Given the description of an element on the screen output the (x, y) to click on. 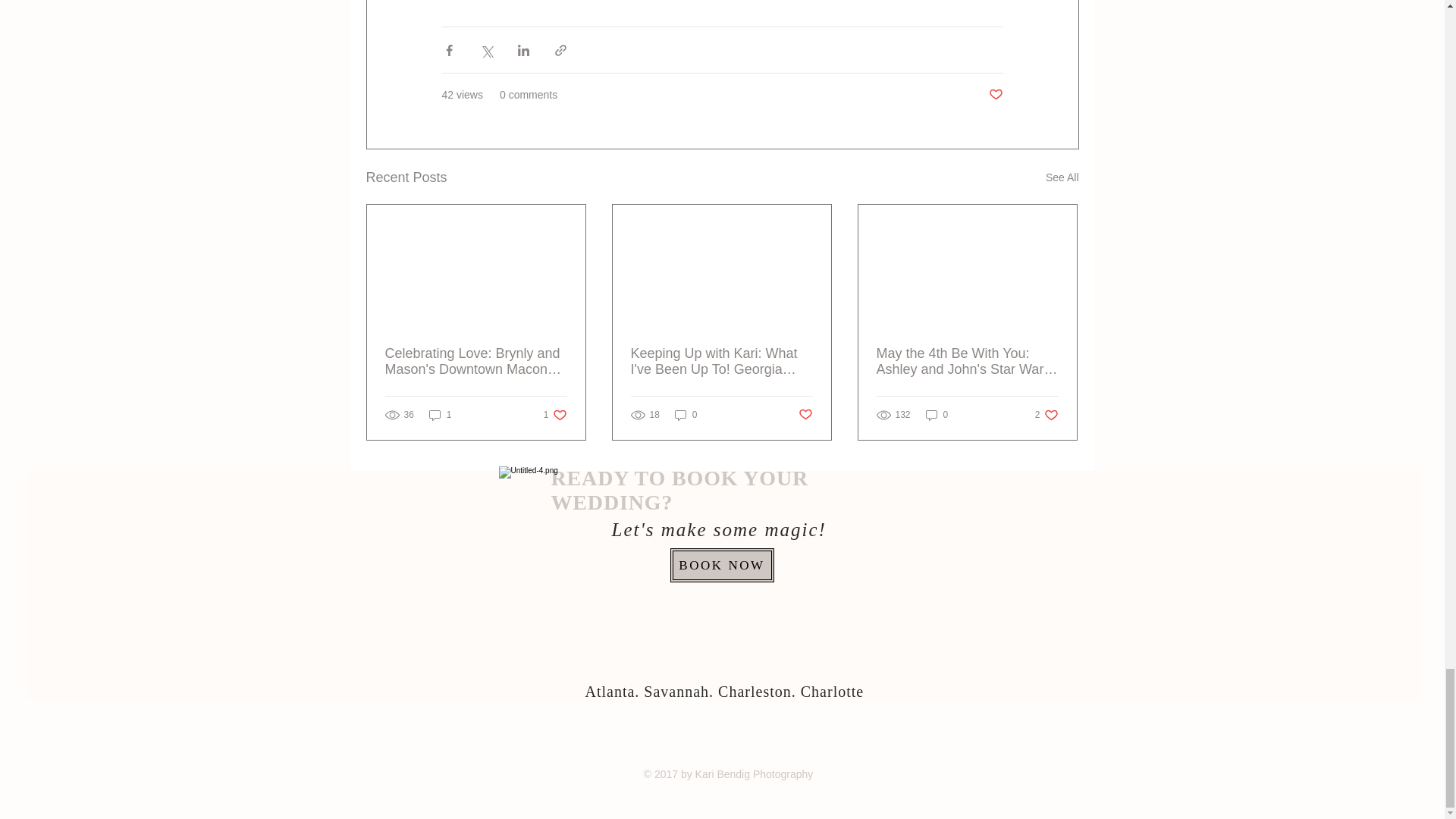
Post not marked as liked (995, 94)
1 (555, 414)
See All (440, 414)
0 (1061, 178)
Post not marked as liked (685, 414)
0 (804, 415)
BOOK NOW (937, 414)
